Given the description of an element on the screen output the (x, y) to click on. 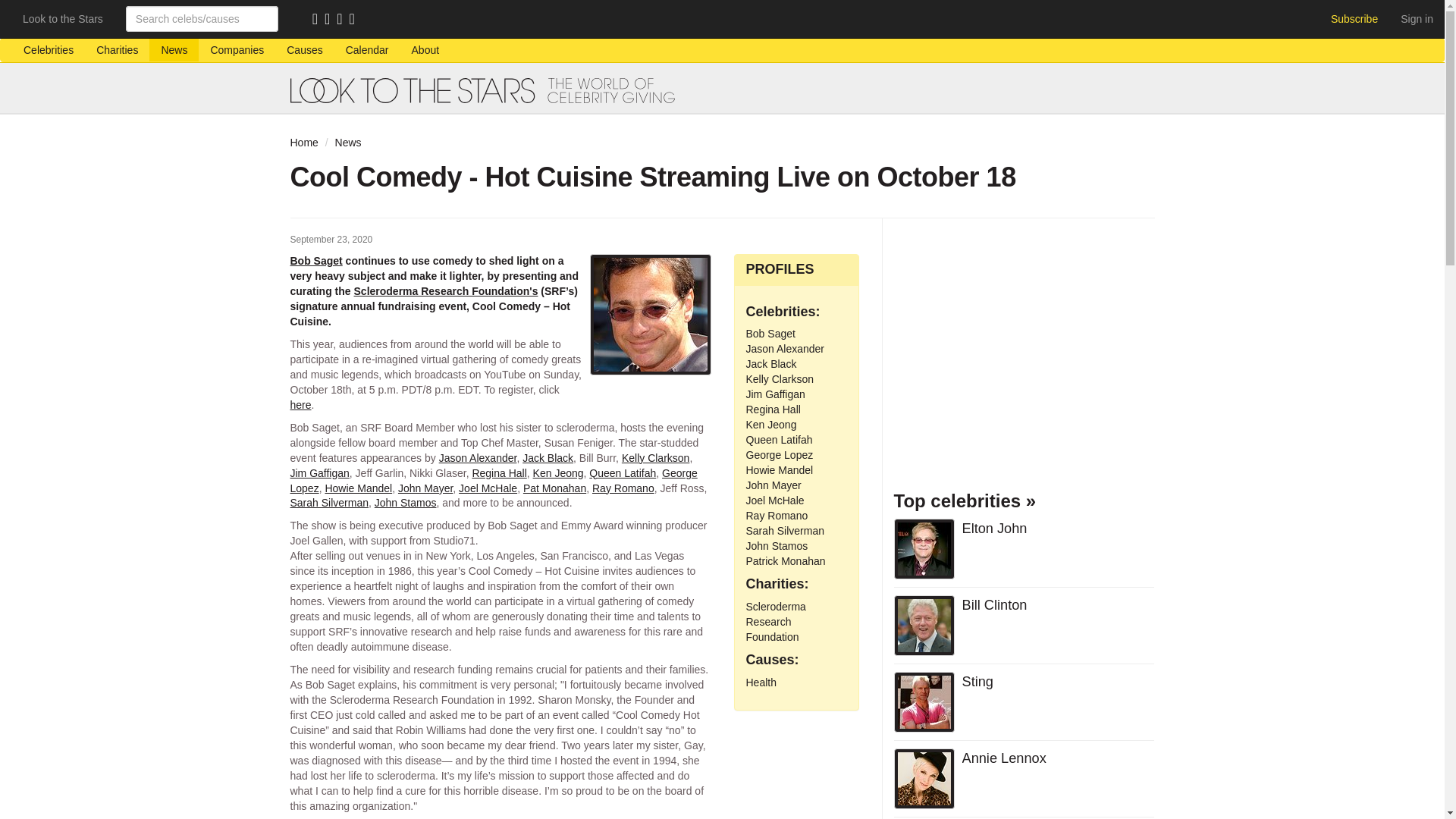
Queen Latifah (622, 472)
Howie Mandel (357, 488)
Jack Black (547, 458)
Jason Alexander (477, 458)
Companies (236, 49)
Kelly Clarkson (654, 458)
Twitter (342, 20)
here (300, 404)
Mailing list (330, 20)
About (425, 49)
Look to the Stars - the world of celebrity giving (721, 90)
Subscribe (1354, 18)
News (347, 142)
Jim Gaffigan (319, 472)
RSS feed (318, 20)
